Given the description of an element on the screen output the (x, y) to click on. 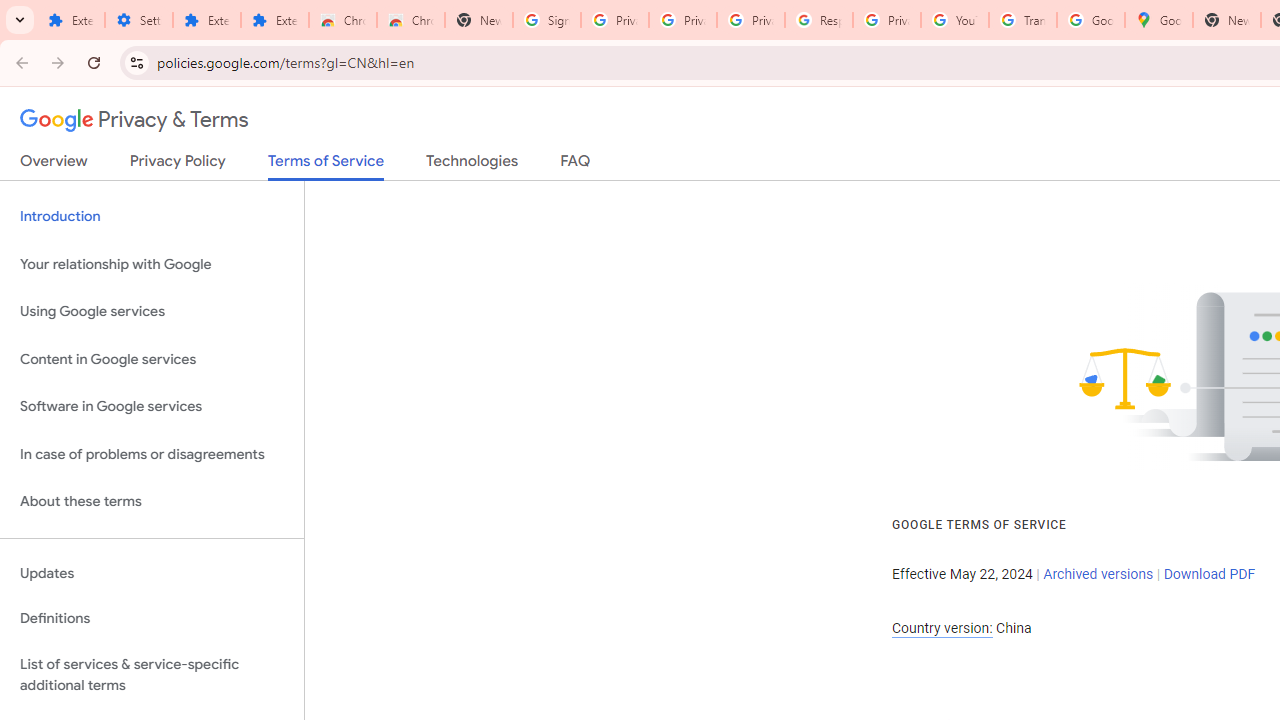
List of services & service-specific additional terms (152, 674)
Definitions (152, 619)
Archived versions (1098, 574)
Your relationship with Google (152, 263)
About these terms (152, 502)
Extensions (206, 20)
Extensions (70, 20)
Download PDF (1209, 574)
